Given the description of an element on the screen output the (x, y) to click on. 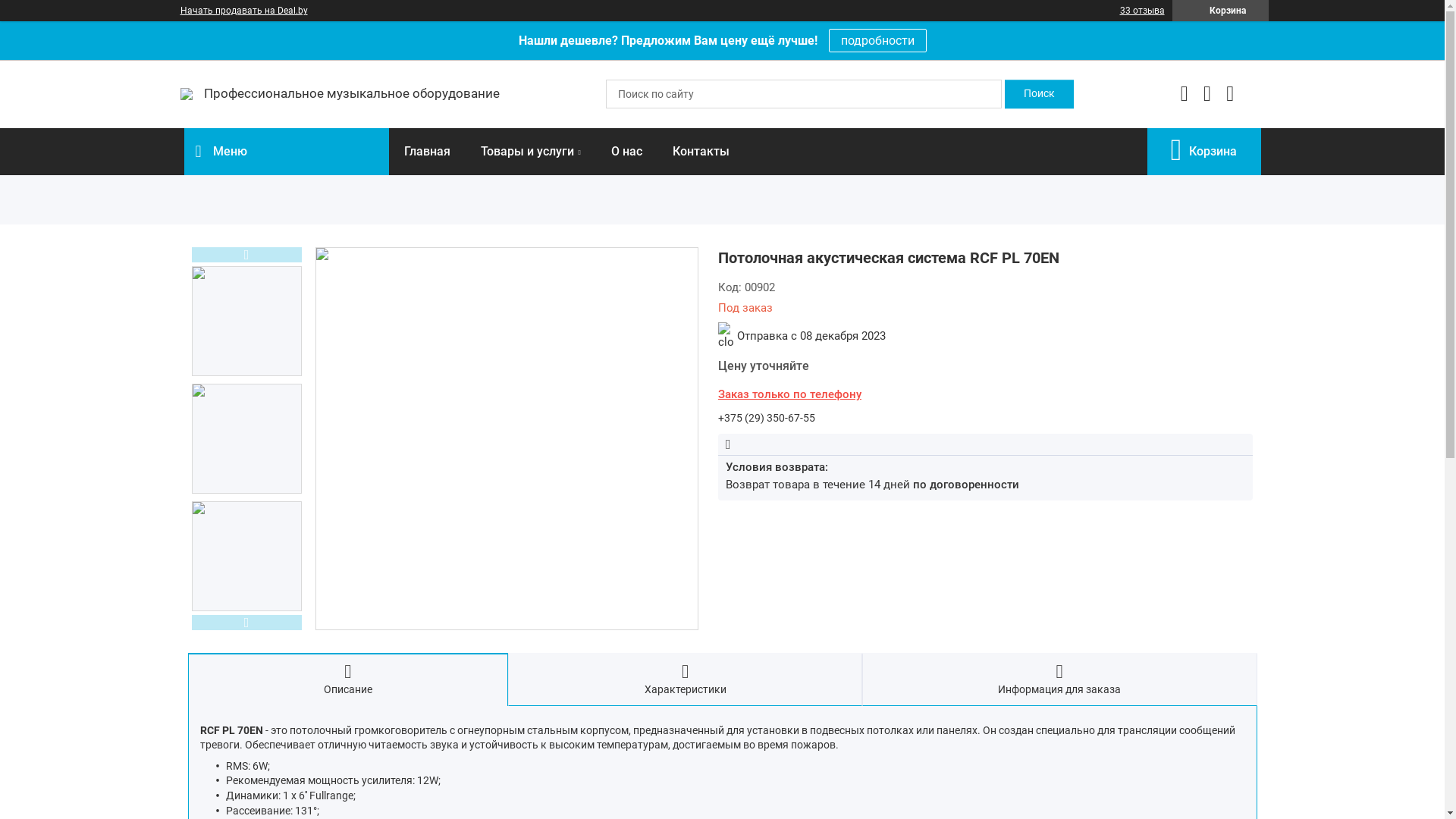
Sound Design Element type: hover (186, 93)
